Given the description of an element on the screen output the (x, y) to click on. 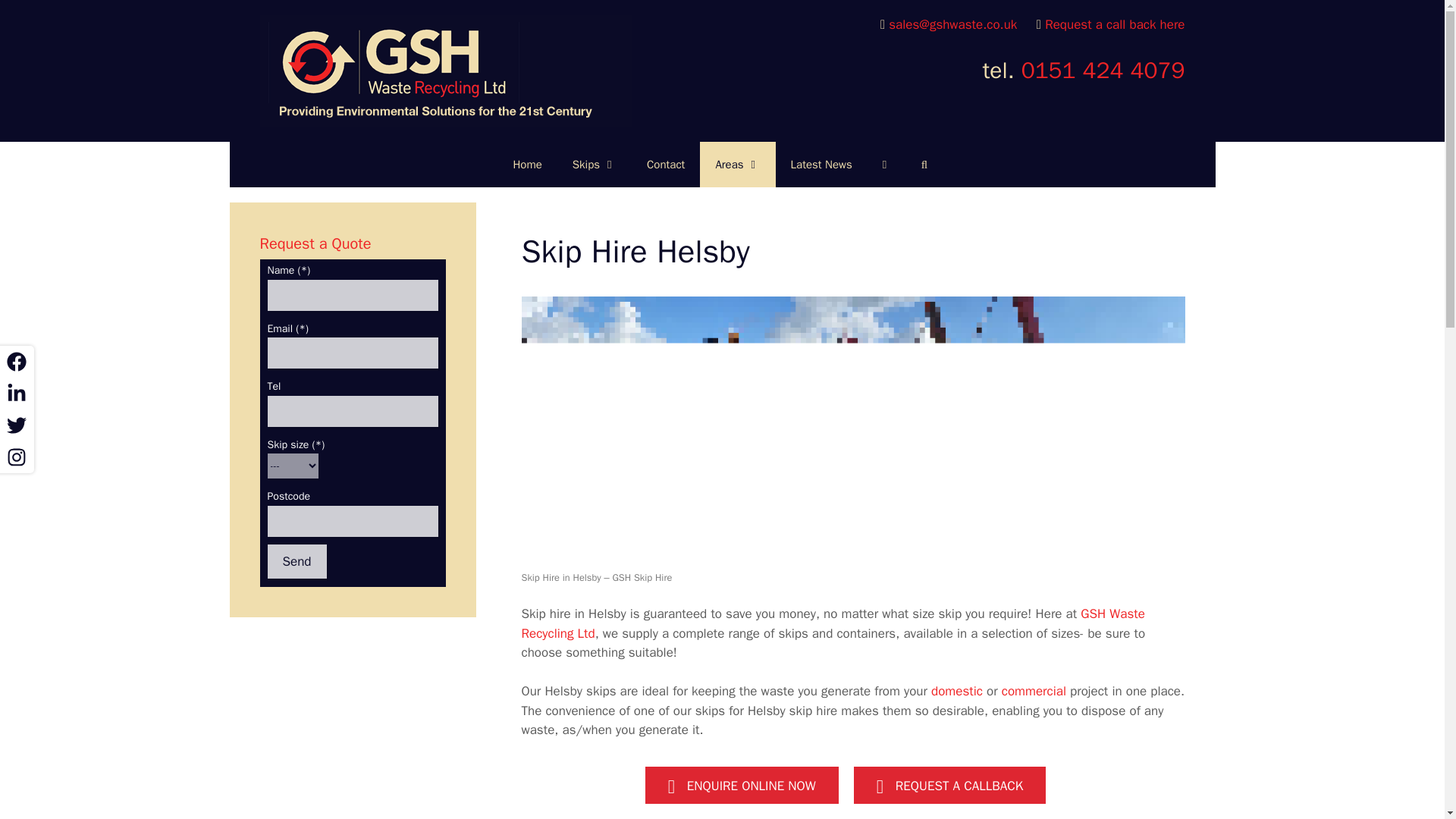
Facebook (16, 361)
Twitter (16, 425)
Grundys Skip Hire (444, 70)
Grundys Skip Hire (444, 69)
Send (296, 561)
0151 424 4079 (1103, 70)
Instagram (16, 457)
Request a call back here (1115, 24)
Linkedin (16, 393)
